Given the description of an element on the screen output the (x, y) to click on. 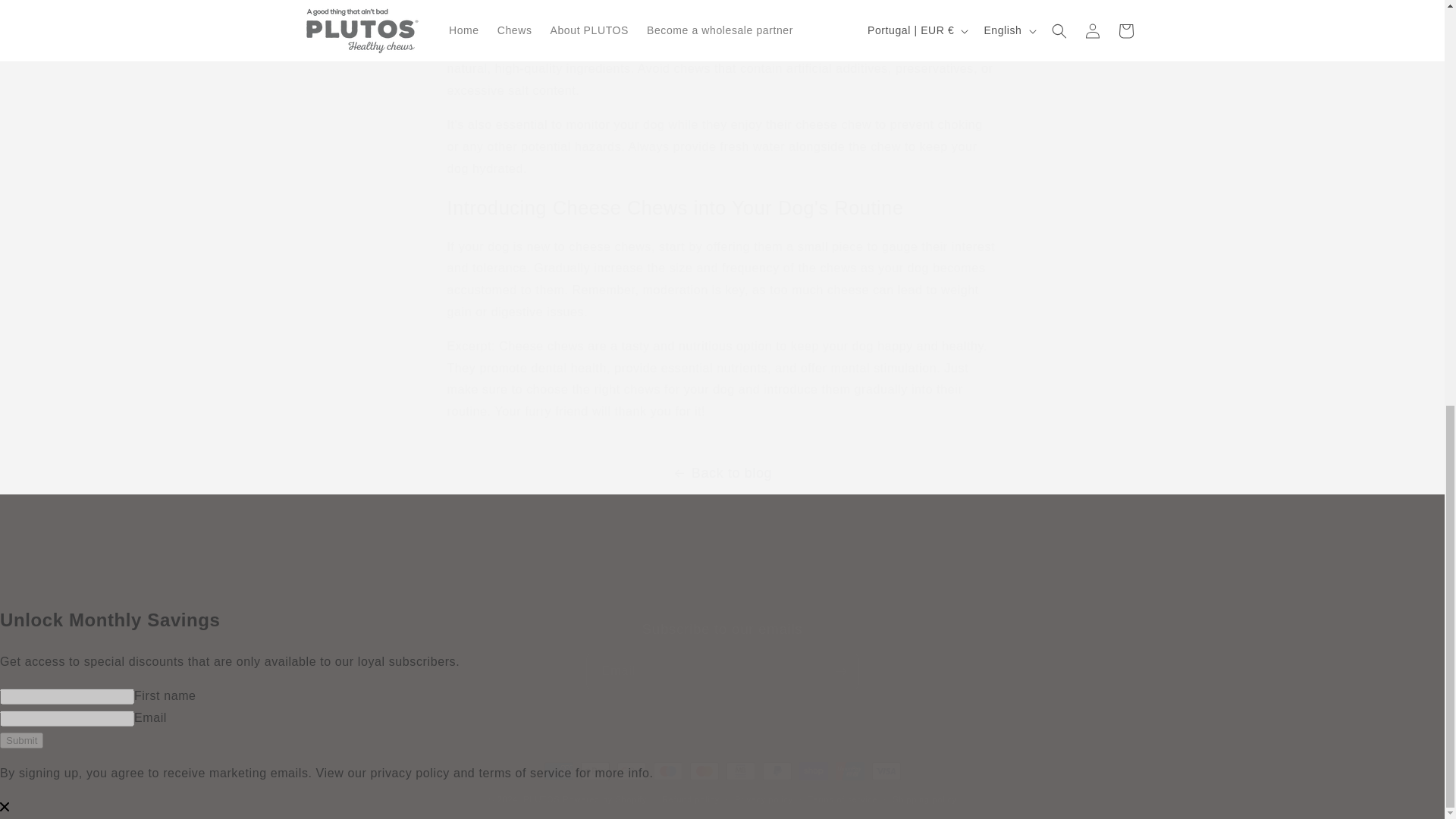
Stockist AU (965, 599)
FAQS (833, 599)
Shipping Policy (721, 654)
Refund policy (662, 599)
PLUTOS (690, 799)
Powered by Shopify (542, 798)
Terms of Service (604, 798)
Refund Policy (760, 599)
Privacy Policy (571, 599)
Privacy policy (484, 600)
Contact Us (764, 799)
